Given the description of an element on the screen output the (x, y) to click on. 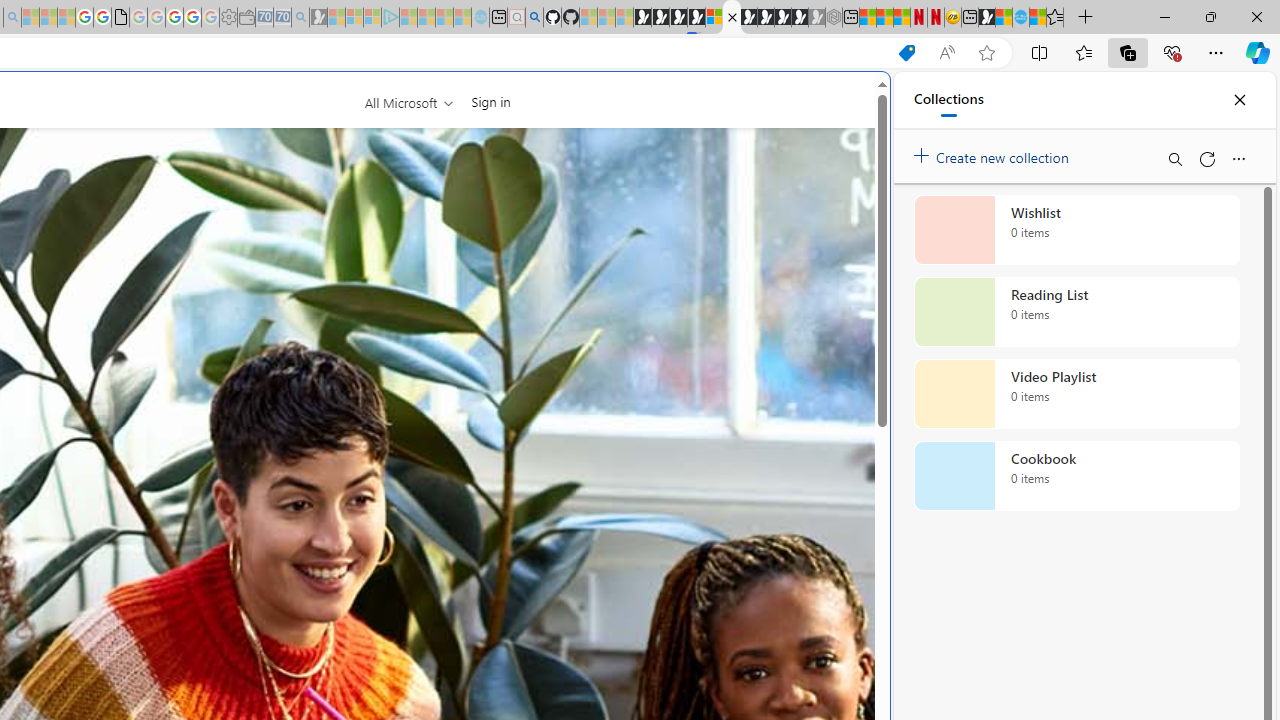
Frequently visited (418, 265)
Reading List collection, 0 items (1076, 312)
Overview (731, 17)
Create new collection (994, 153)
